Given the description of an element on the screen output the (x, y) to click on. 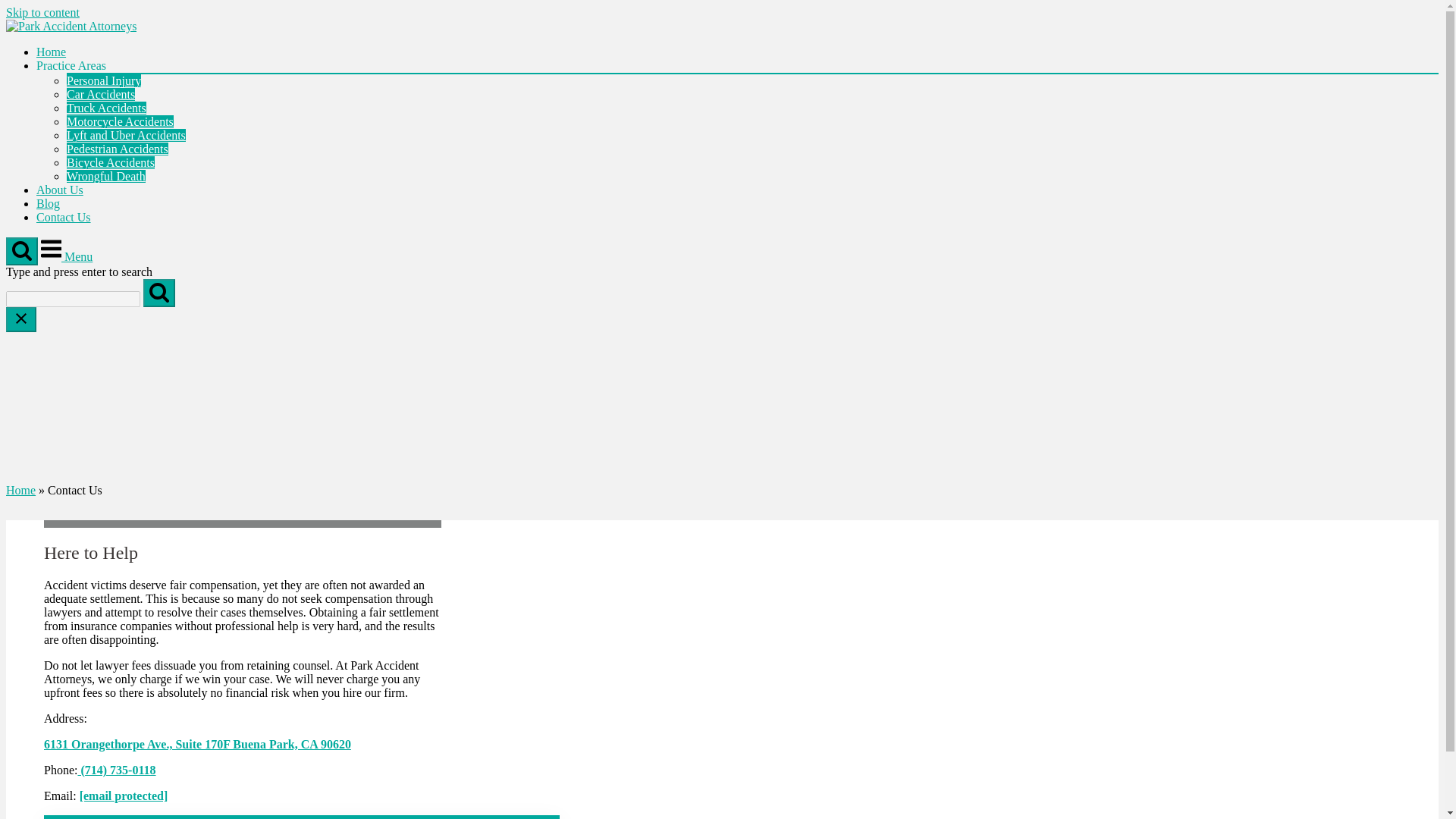
Practice Areas (71, 65)
Skip to content (42, 11)
Menu (66, 256)
Personal Injury (103, 80)
Lyft and Uber Accidents (126, 134)
About Us (59, 189)
Home (50, 51)
Pedestrian Accidents (117, 148)
Wrongful Death (105, 175)
Blog (47, 203)
Car Accidents (100, 93)
Contact Us (63, 216)
Bicycle Accidents (110, 162)
Truck Accidents (106, 107)
6131 Orangethorpe Ave., Suite 170F Buena Park, CA 90620 (196, 744)
